Given the description of an element on the screen output the (x, y) to click on. 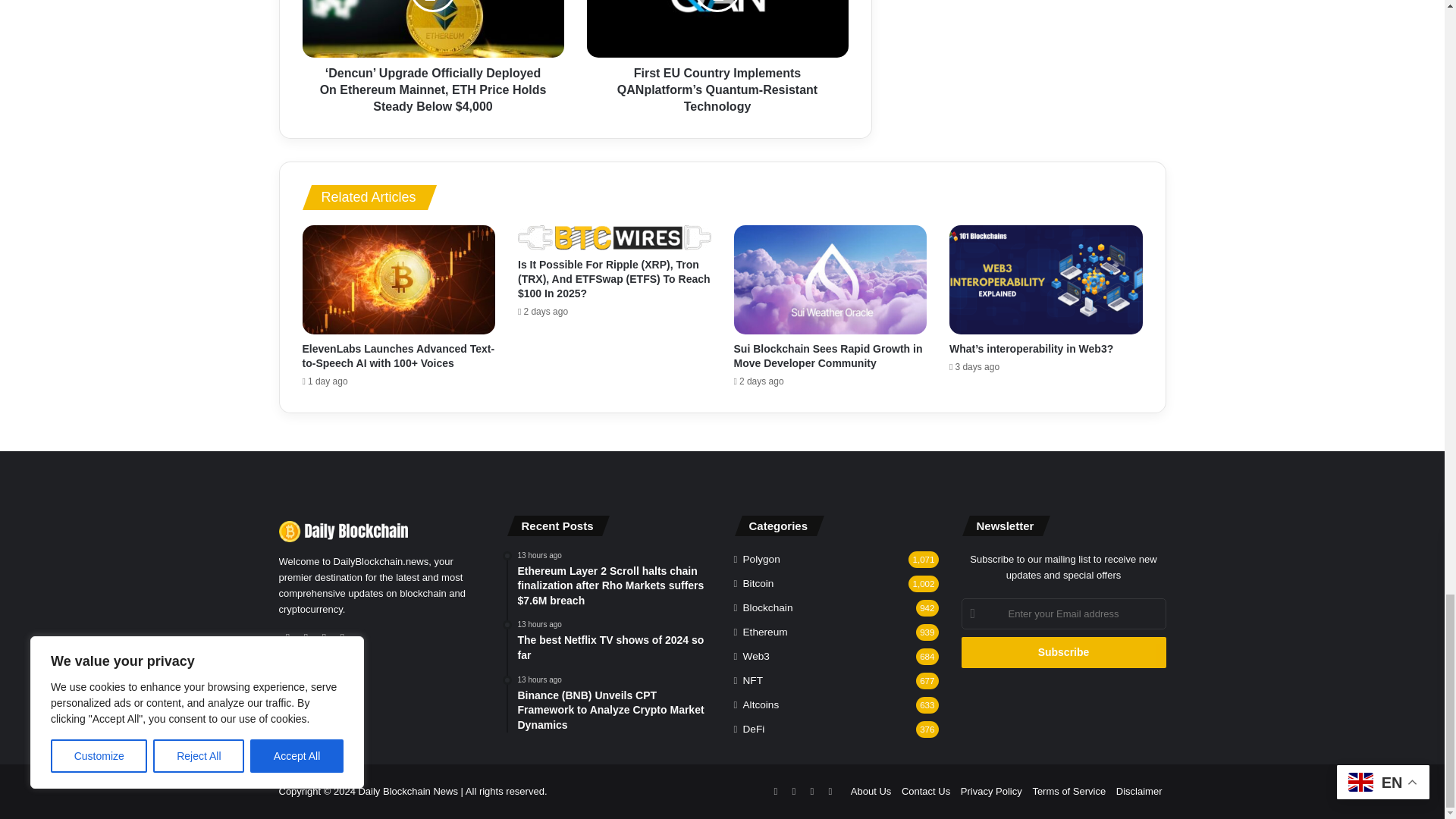
Subscribe (1063, 652)
